Given the description of an element on the screen output the (x, y) to click on. 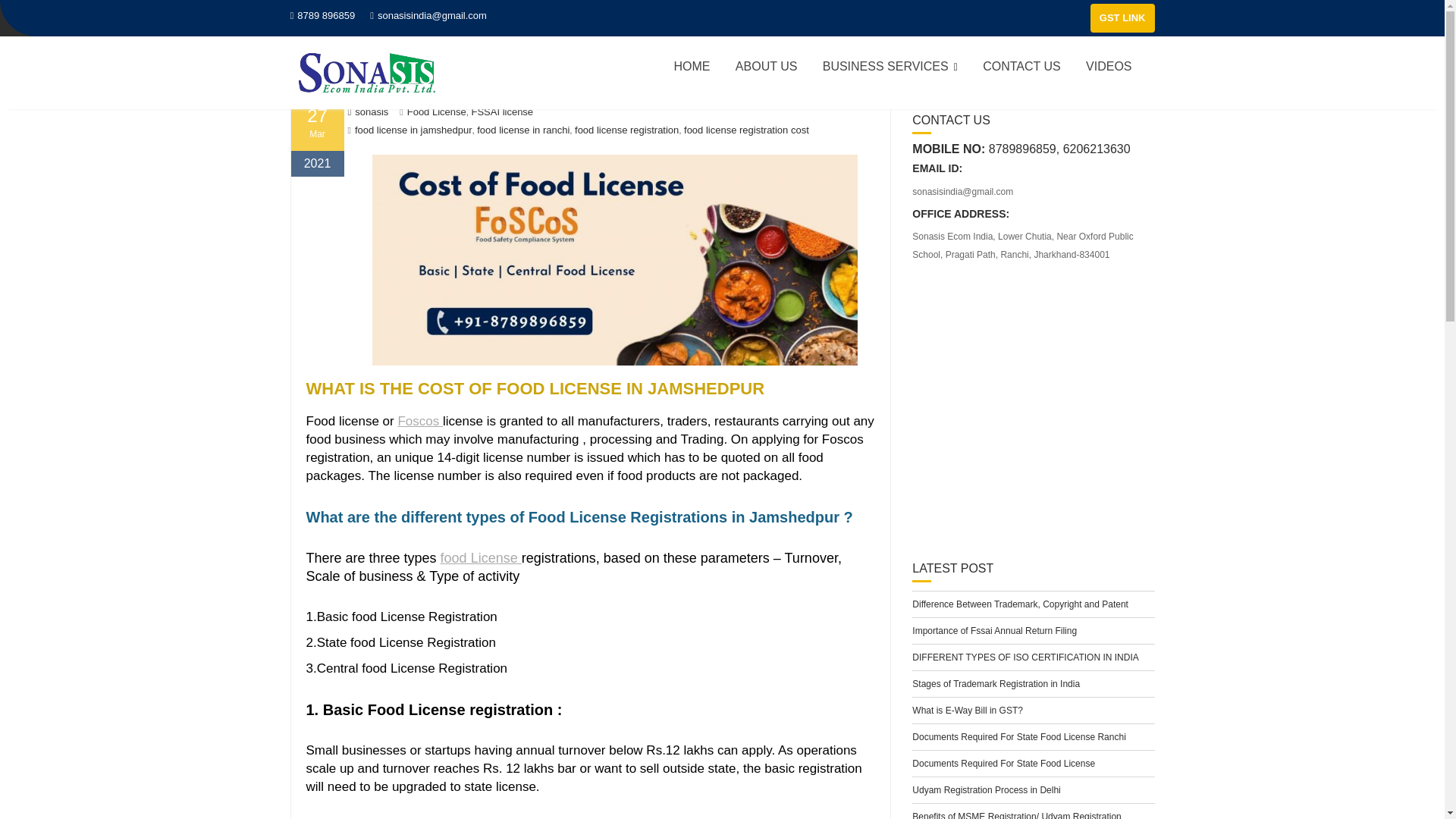
Foscos  (419, 421)
Food License (436, 111)
Home (301, 63)
GST LINK (1122, 18)
food license registration cost (746, 129)
Food License (360, 63)
ABOUT US (766, 66)
FSSAI license (501, 111)
HOME (692, 66)
sonasis (367, 111)
